Given the description of an element on the screen output the (x, y) to click on. 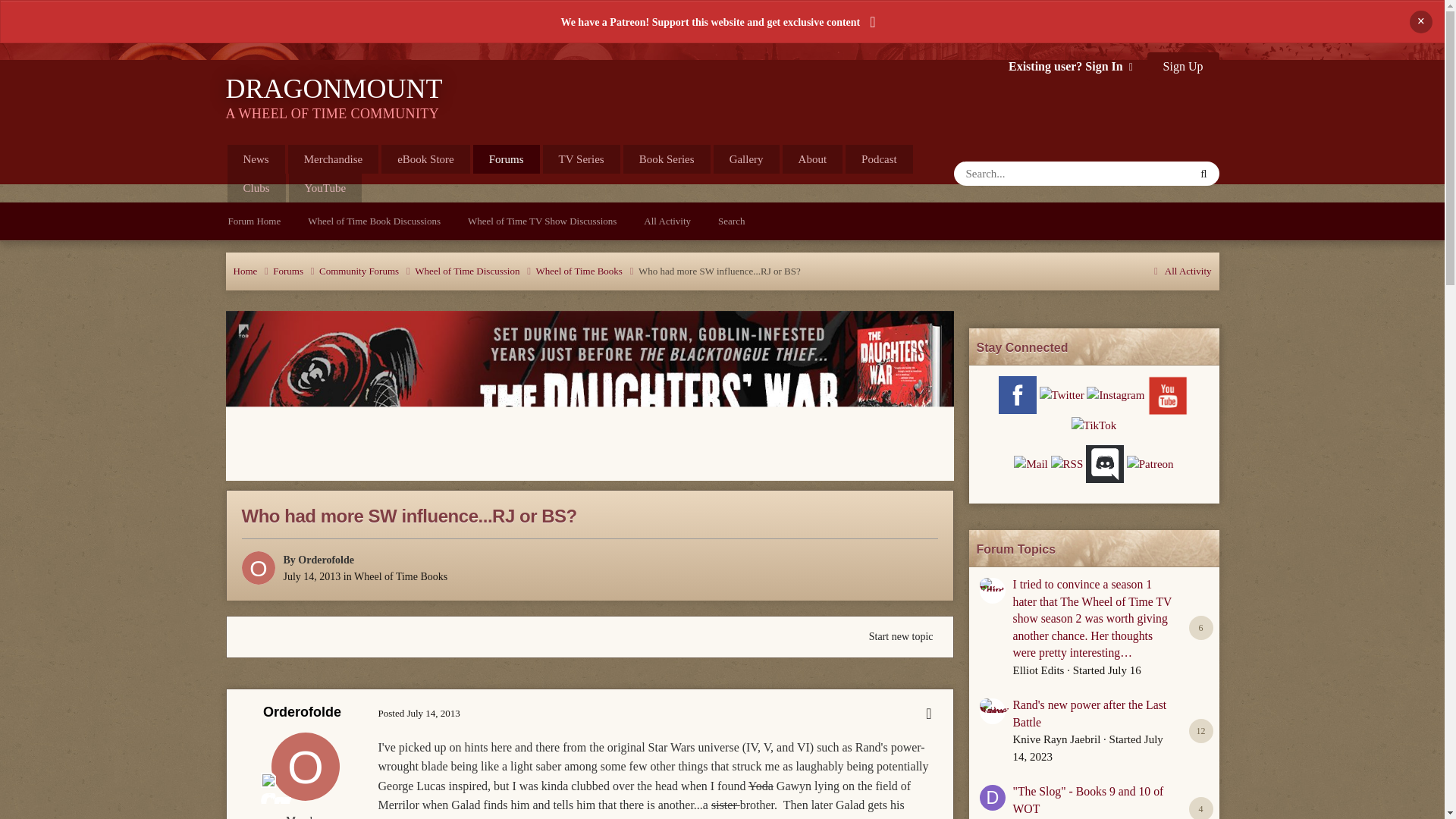
Go to Orderofolde's profile (301, 711)
Wheel of Time Book Discussions (374, 221)
Go to Orderofolde's profile (325, 559)
Gallery (745, 158)
Existing user? Sign In   (1070, 65)
Go to Orderofolde's profile (304, 766)
DRAGONMOUNT (333, 96)
Sign Up (1183, 66)
TV Series (581, 158)
More options... (928, 713)
Forums (506, 158)
Wheel of Time TV Show Discussions (542, 221)
News (256, 158)
Home (252, 271)
